Given the description of an element on the screen output the (x, y) to click on. 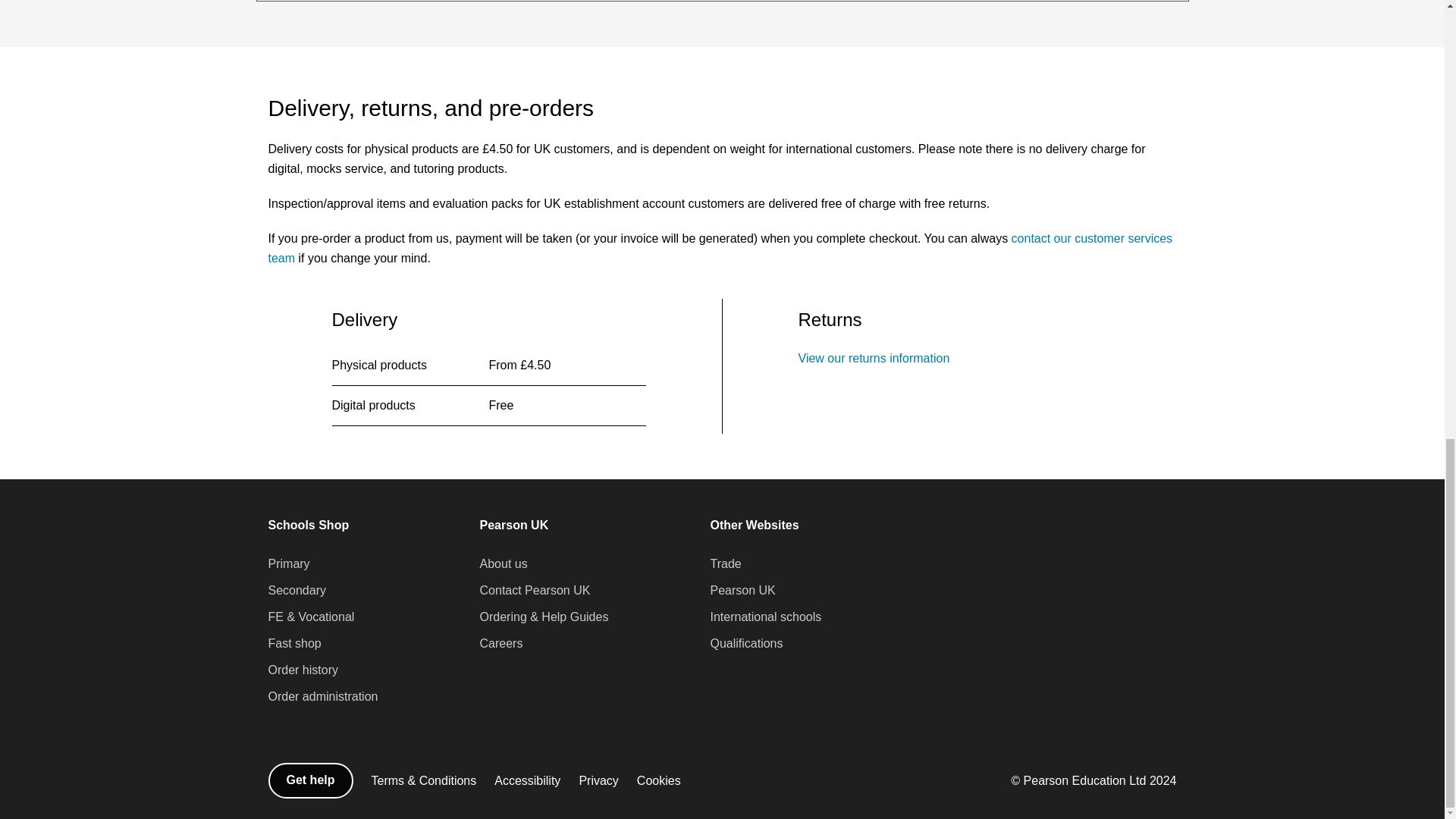
Returns (873, 358)
Order history (302, 670)
Fast shop (294, 643)
contact our customer services team (720, 247)
Primary (288, 563)
View our returns information (873, 358)
Secondary (296, 590)
